Given the description of an element on the screen output the (x, y) to click on. 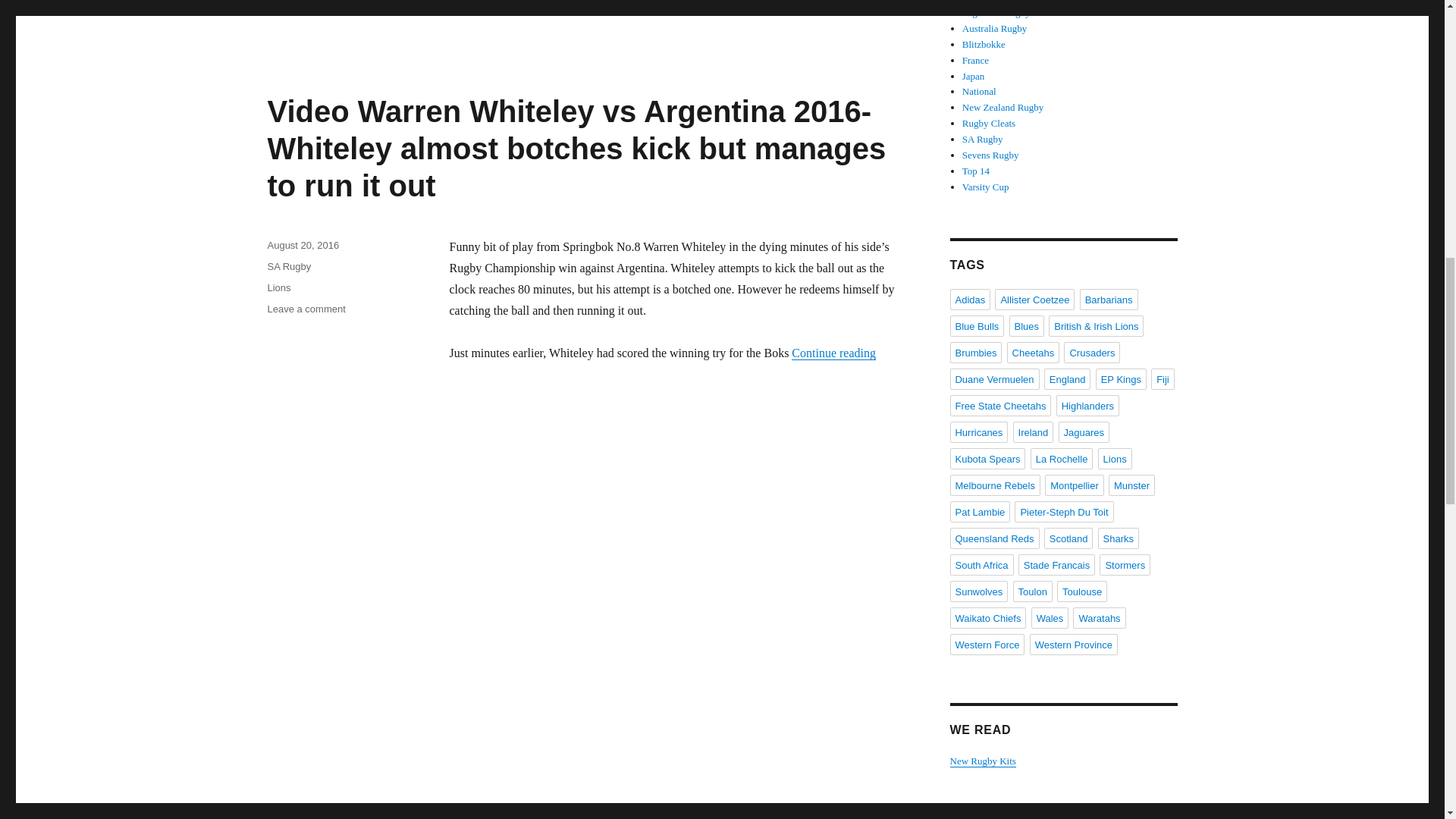
August 20, 2016 (302, 244)
Australia Rugby (994, 28)
SA Rugby (288, 266)
Lions (277, 287)
New Zealand Rugby (1002, 107)
Blitzbokke (984, 43)
Argentina Rugby (996, 12)
SA Rugby (982, 138)
Japan (973, 75)
France (975, 60)
National (978, 91)
Rugby Cleats (988, 122)
